Given the description of an element on the screen output the (x, y) to click on. 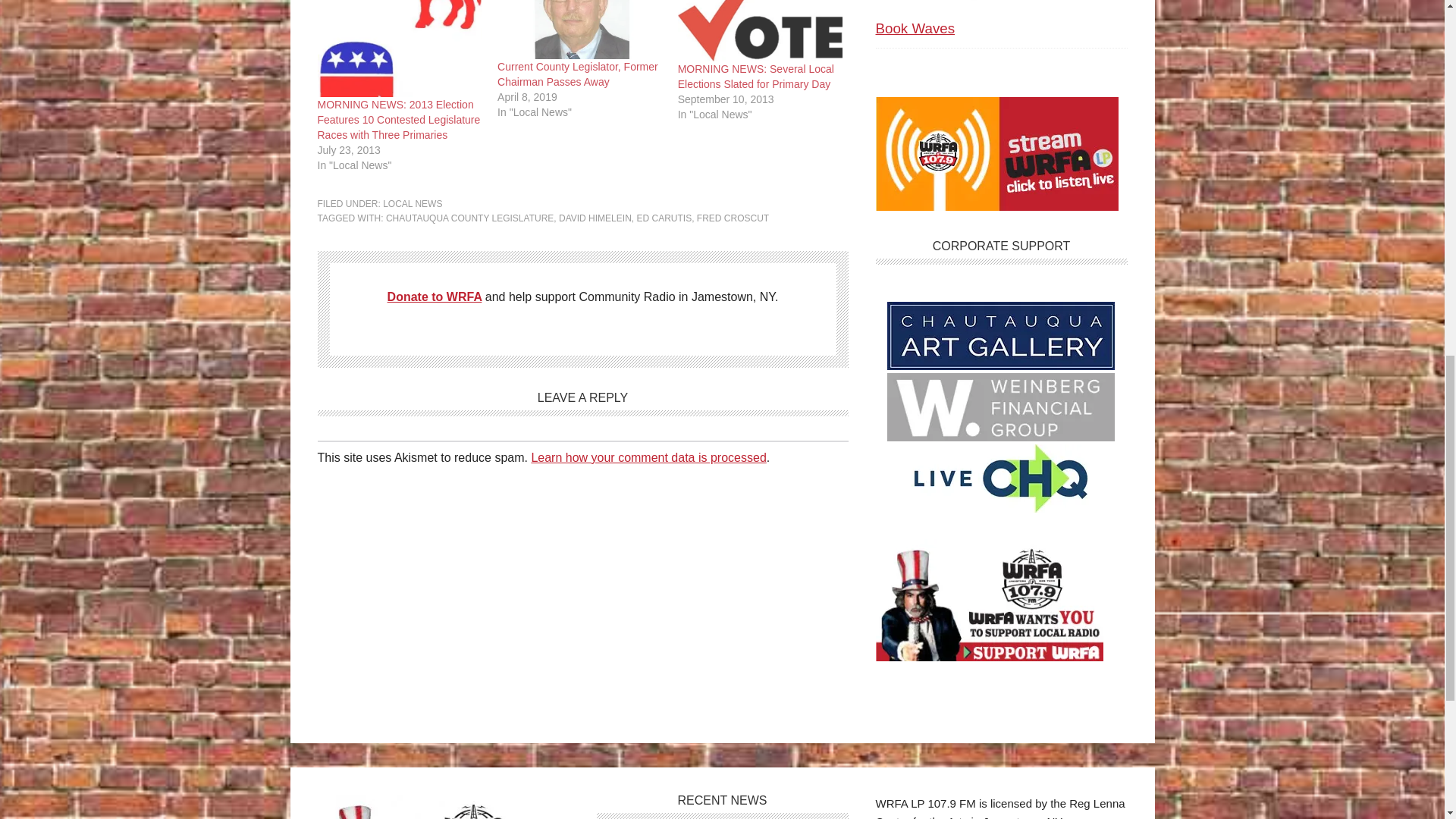
Current County Legislator, Former Chairman Passes Away (579, 29)
MORNING NEWS: Several Local Elections Slated for Primary Day (756, 76)
MORNING NEWS: Several Local Elections Slated for Primary Day (760, 30)
Current County Legislator, Former Chairman Passes Away (577, 73)
